Given the description of an element on the screen output the (x, y) to click on. 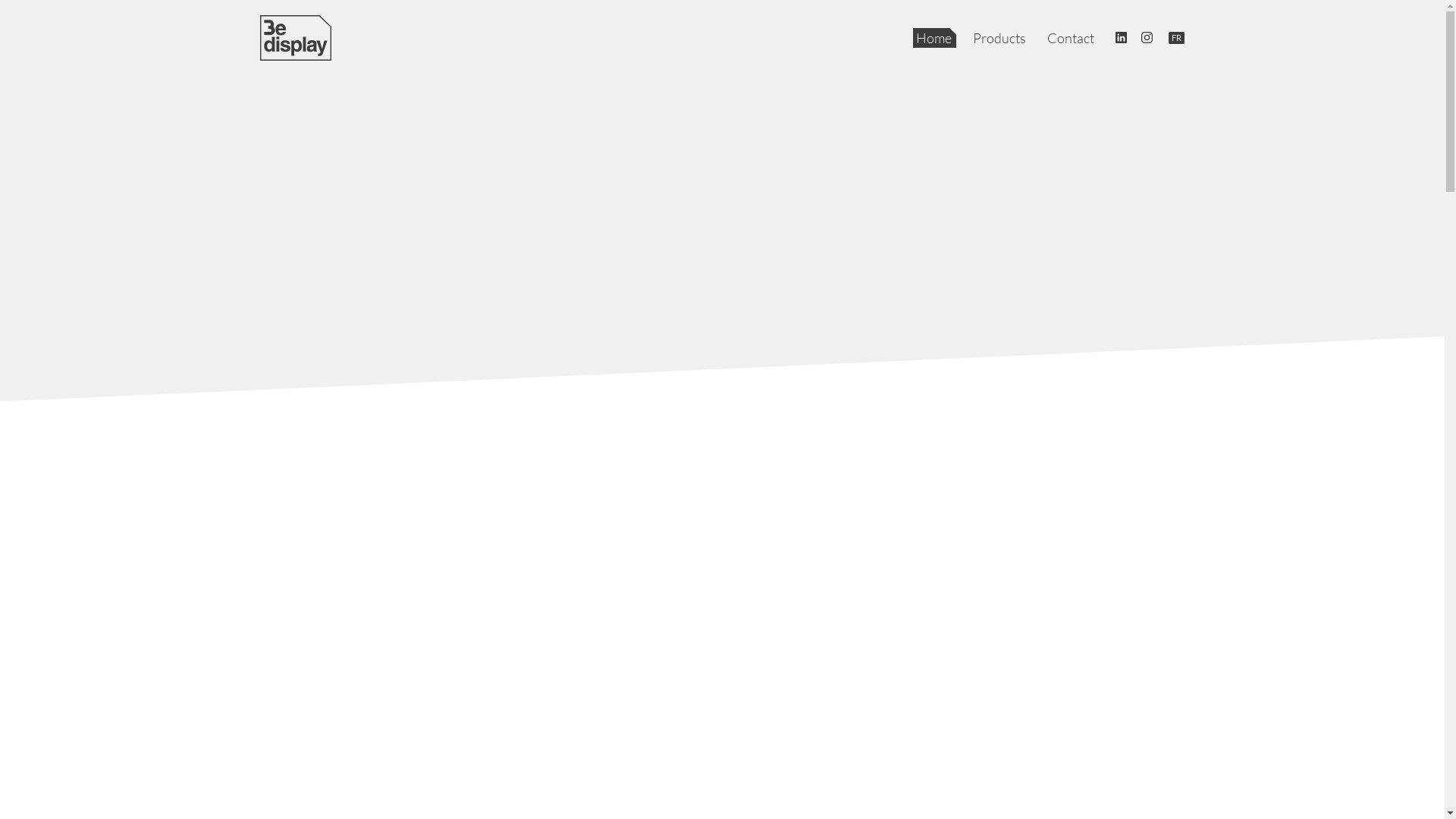
FR Element type: text (1176, 37)
Home Element type: text (934, 37)
Products Element type: text (999, 37)
Contact Element type: text (1071, 37)
